Given the description of an element on the screen output the (x, y) to click on. 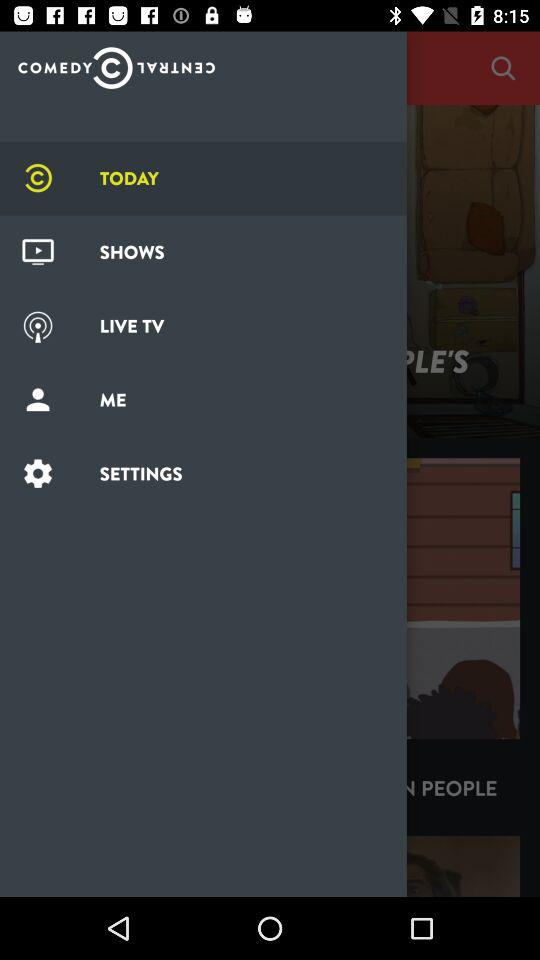
click the shows icon (38, 252)
go to today above text input (115, 63)
select the search button (503, 68)
